Given the description of an element on the screen output the (x, y) to click on. 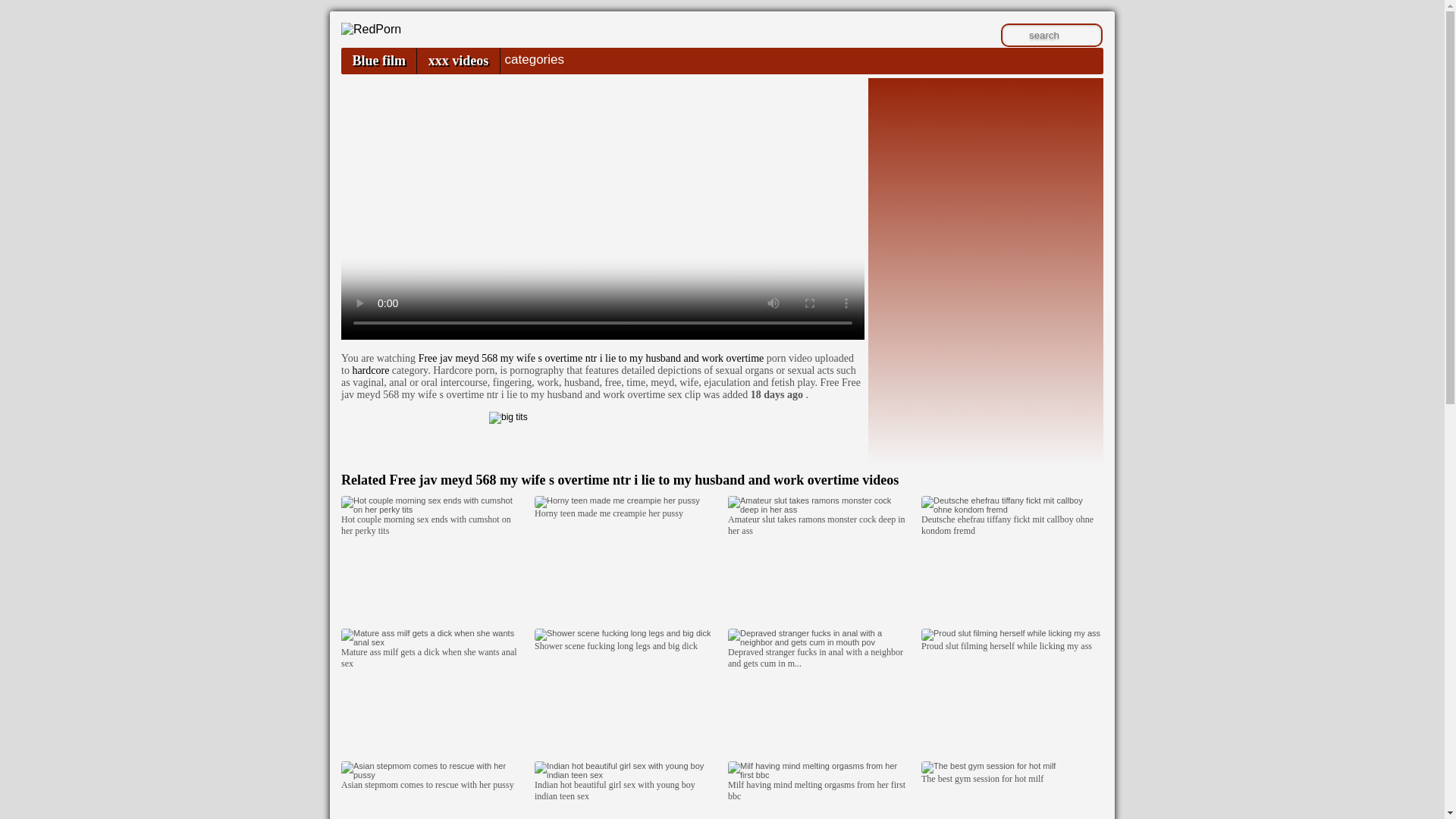
Blue film (378, 60)
categories (533, 59)
hardcore (370, 369)
xxx videos (457, 60)
Blue film (378, 60)
xxx videos (457, 60)
Indian Porn (370, 29)
